Given the description of an element on the screen output the (x, y) to click on. 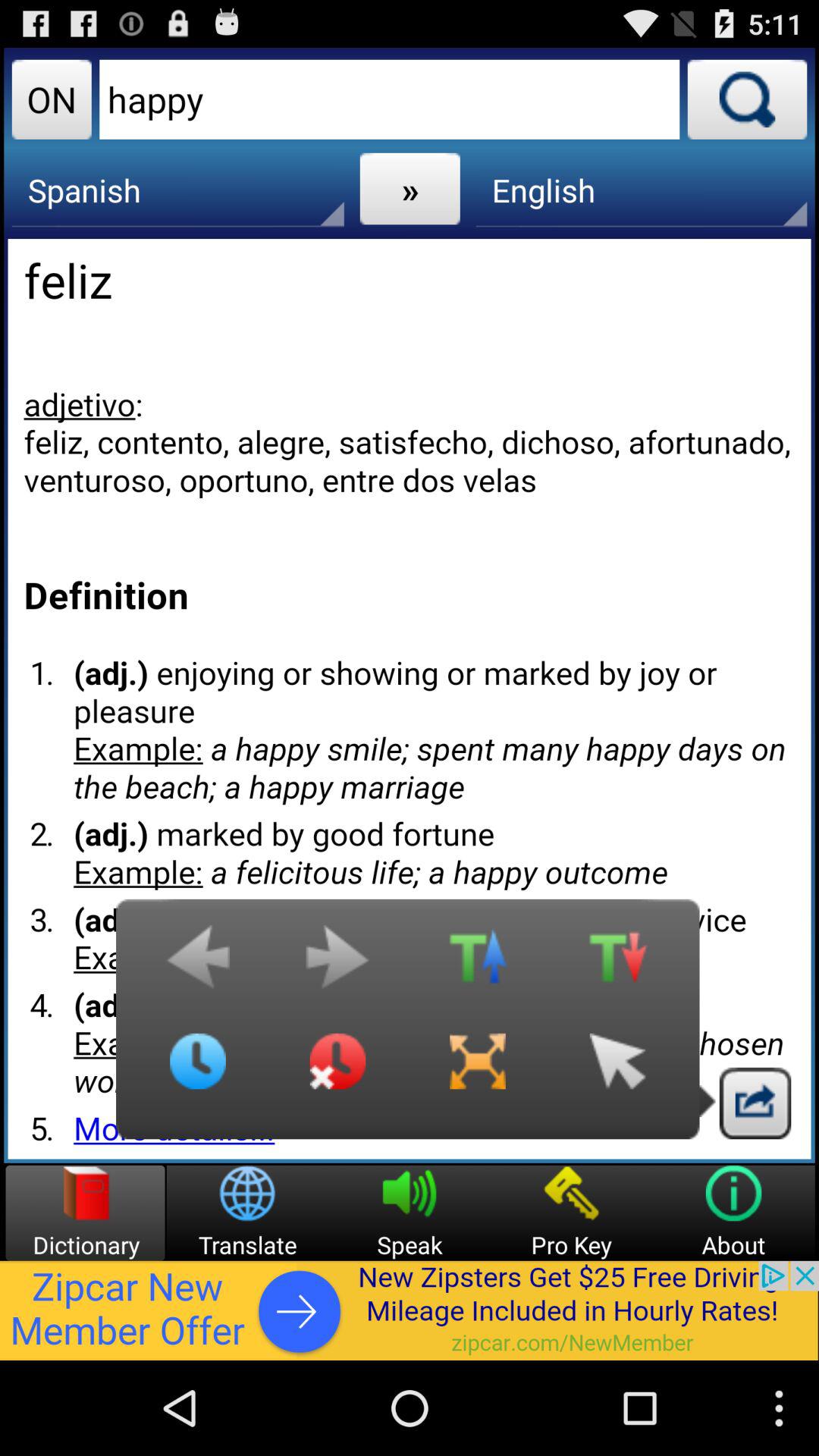
select cursor (617, 1073)
